Given the description of an element on the screen output the (x, y) to click on. 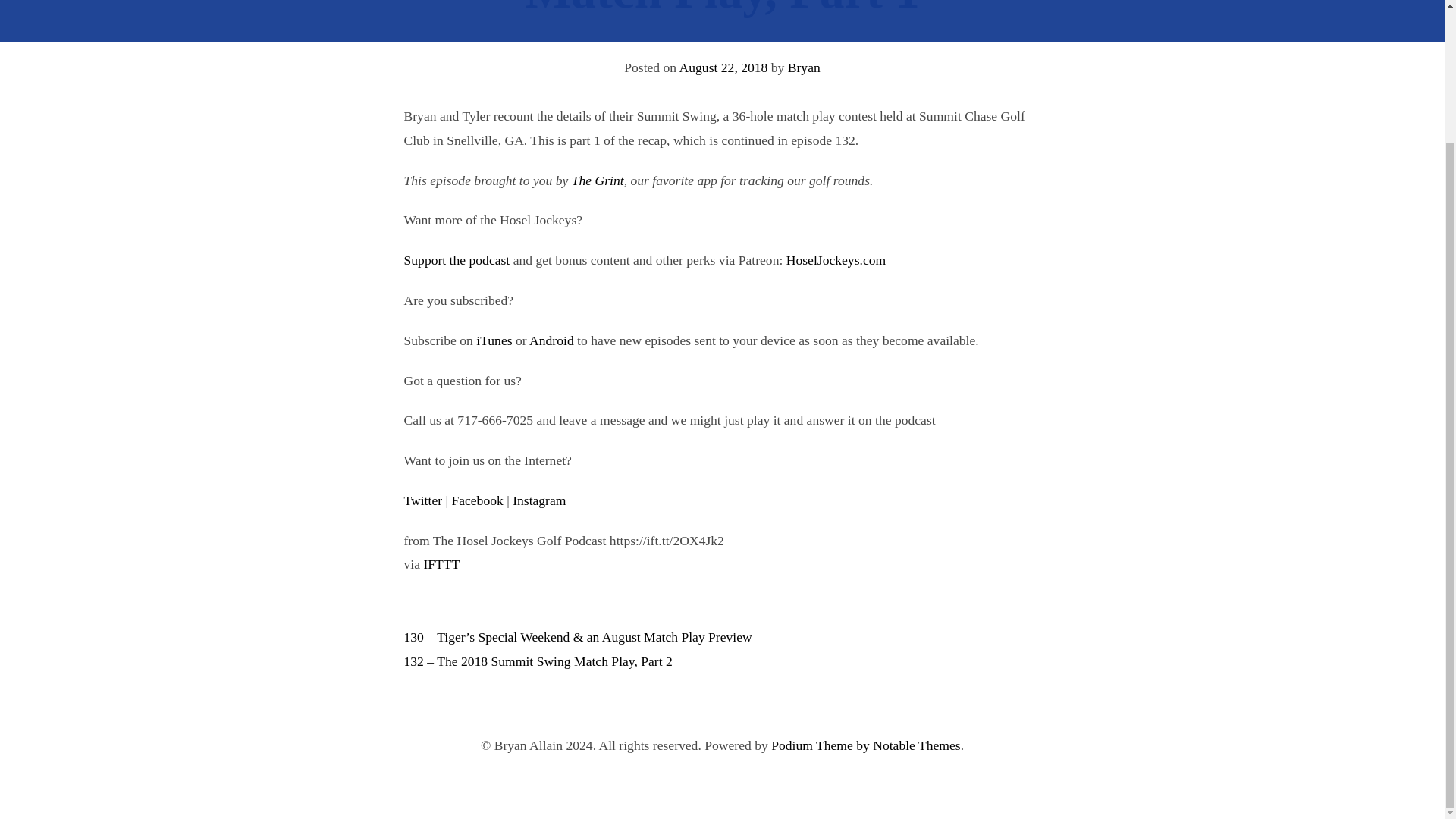
The Grint (598, 180)
Android (551, 340)
Podium Theme by Notable Themes (865, 744)
Support the podcast (456, 259)
HoselJockeys.com (835, 259)
August 22, 2018 (723, 67)
Instagram (539, 500)
Facebook (476, 500)
Bryan (804, 67)
IFTTT (441, 563)
